Given the description of an element on the screen output the (x, y) to click on. 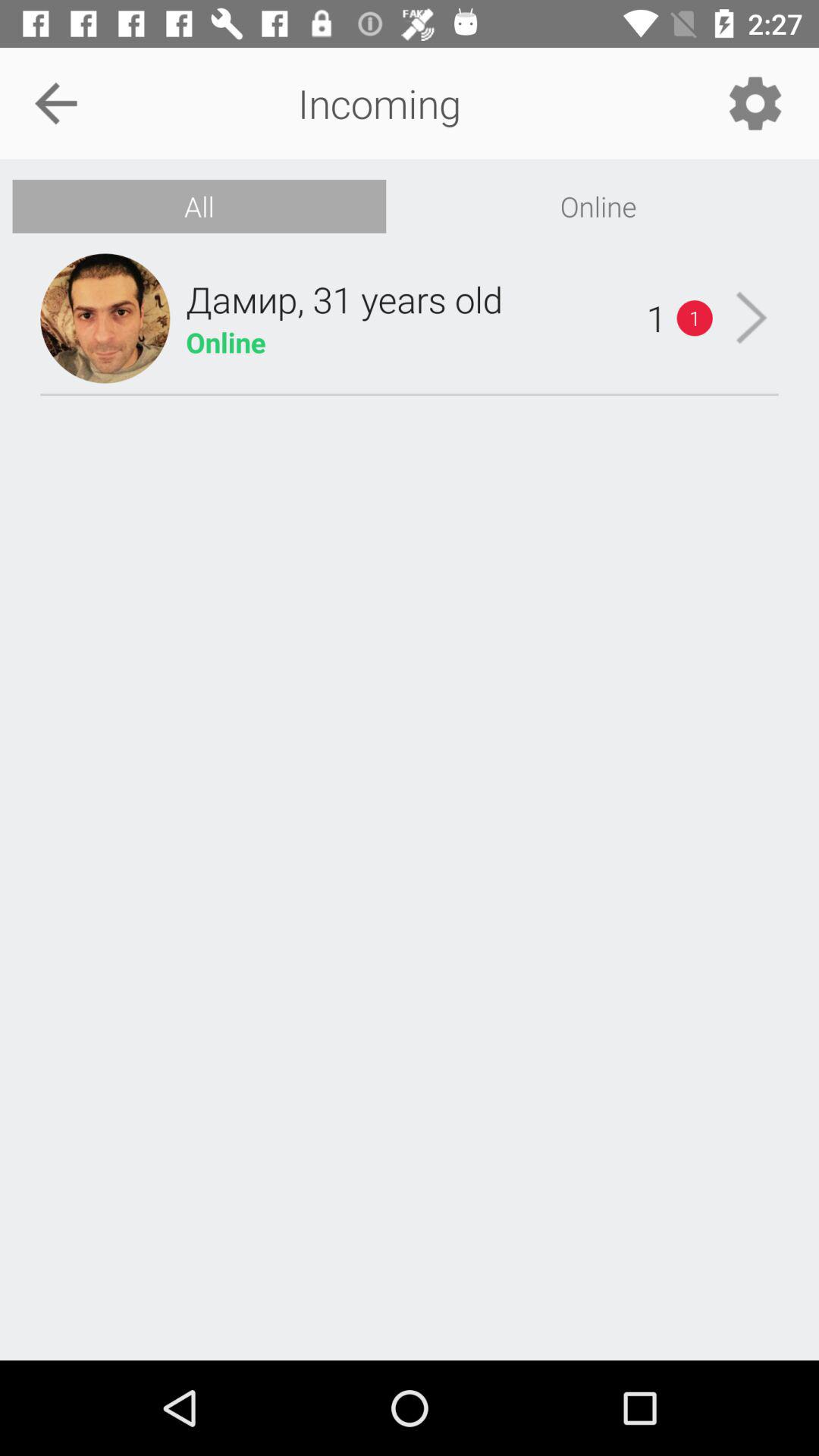
tap item next to the 1 icon (343, 299)
